Given the description of an element on the screen output the (x, y) to click on. 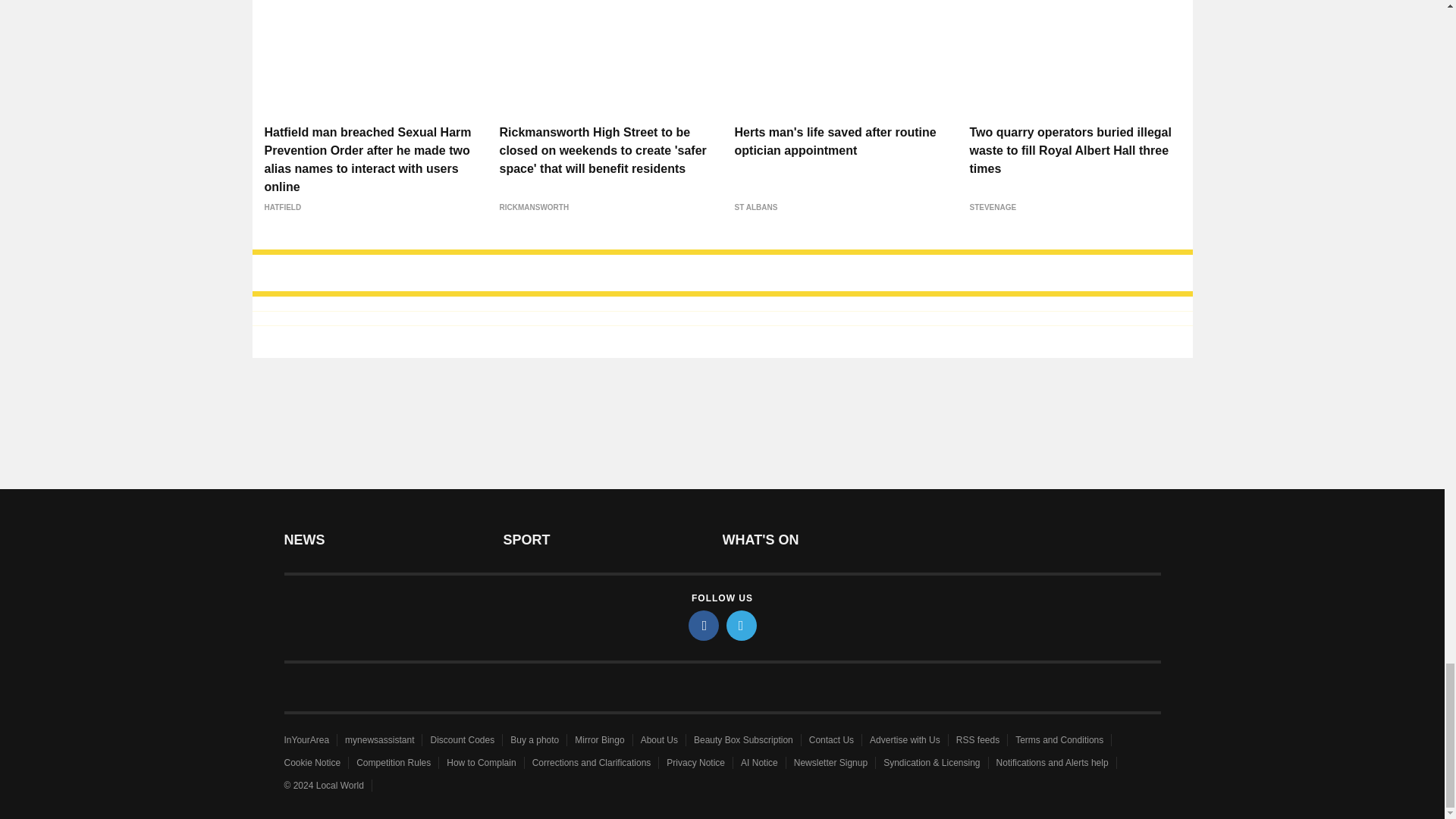
facebook (703, 625)
twitter (741, 625)
